Given the description of an element on the screen output the (x, y) to click on. 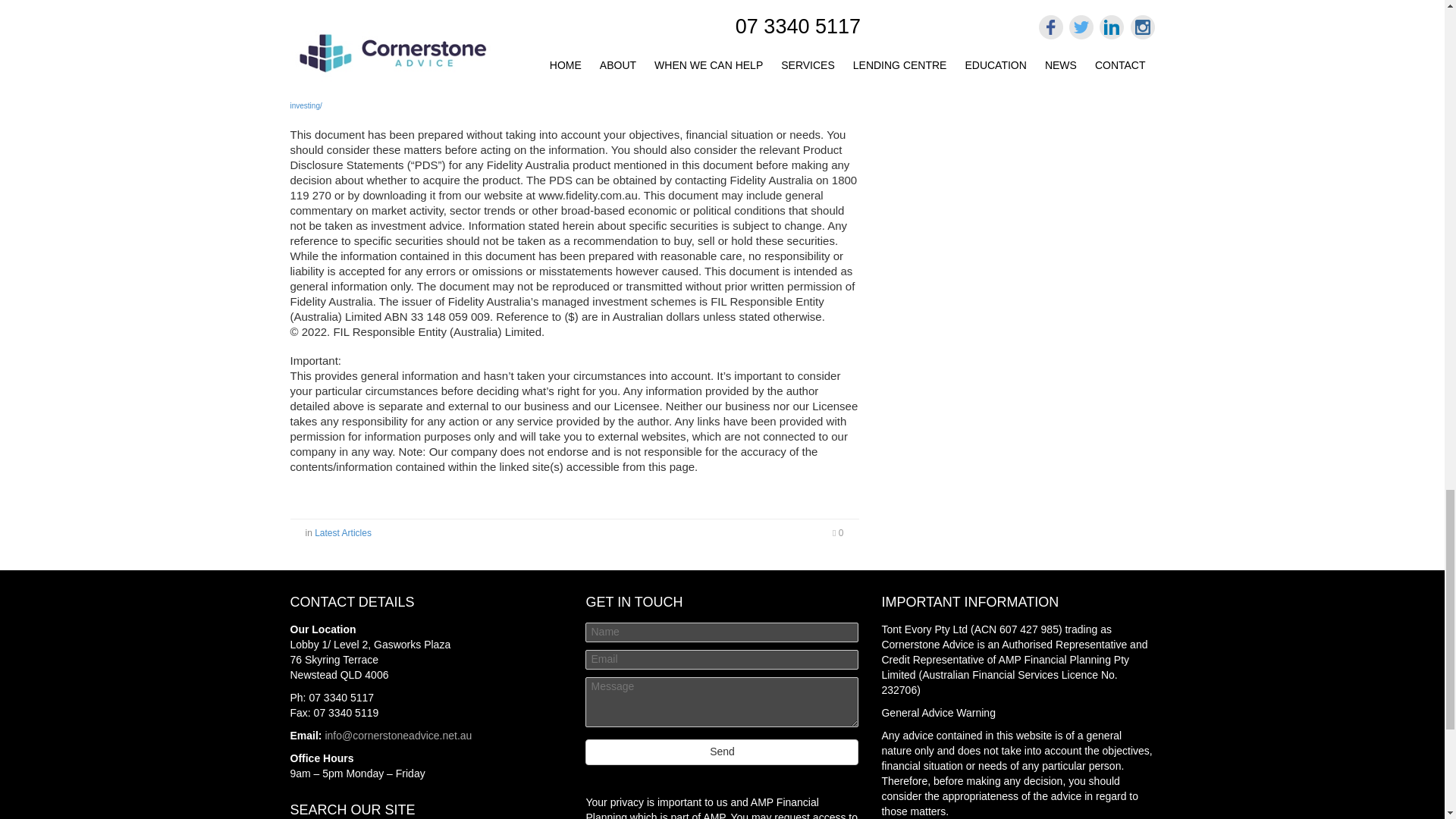
Send (722, 751)
0 (837, 532)
Latest Articles (342, 532)
